Given the description of an element on the screen output the (x, y) to click on. 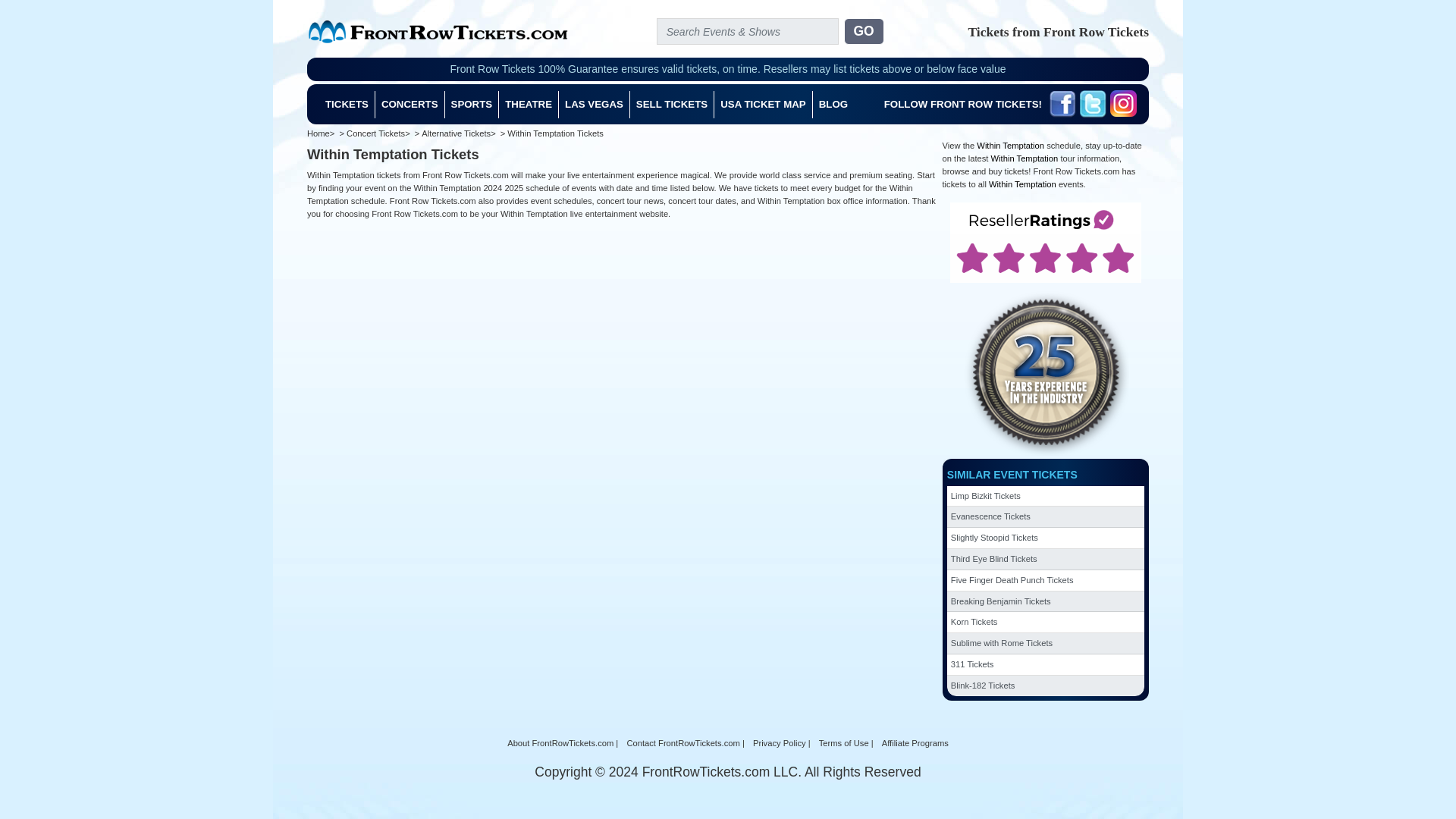
Concert Tickets (379, 133)
Home (321, 133)
TICKETS (346, 103)
GO (863, 31)
THEATRE (529, 103)
LAS VEGAS (594, 103)
SPORTS (472, 103)
CONCERTS (410, 103)
Alternative Tickets (459, 133)
